Given the description of an element on the screen output the (x, y) to click on. 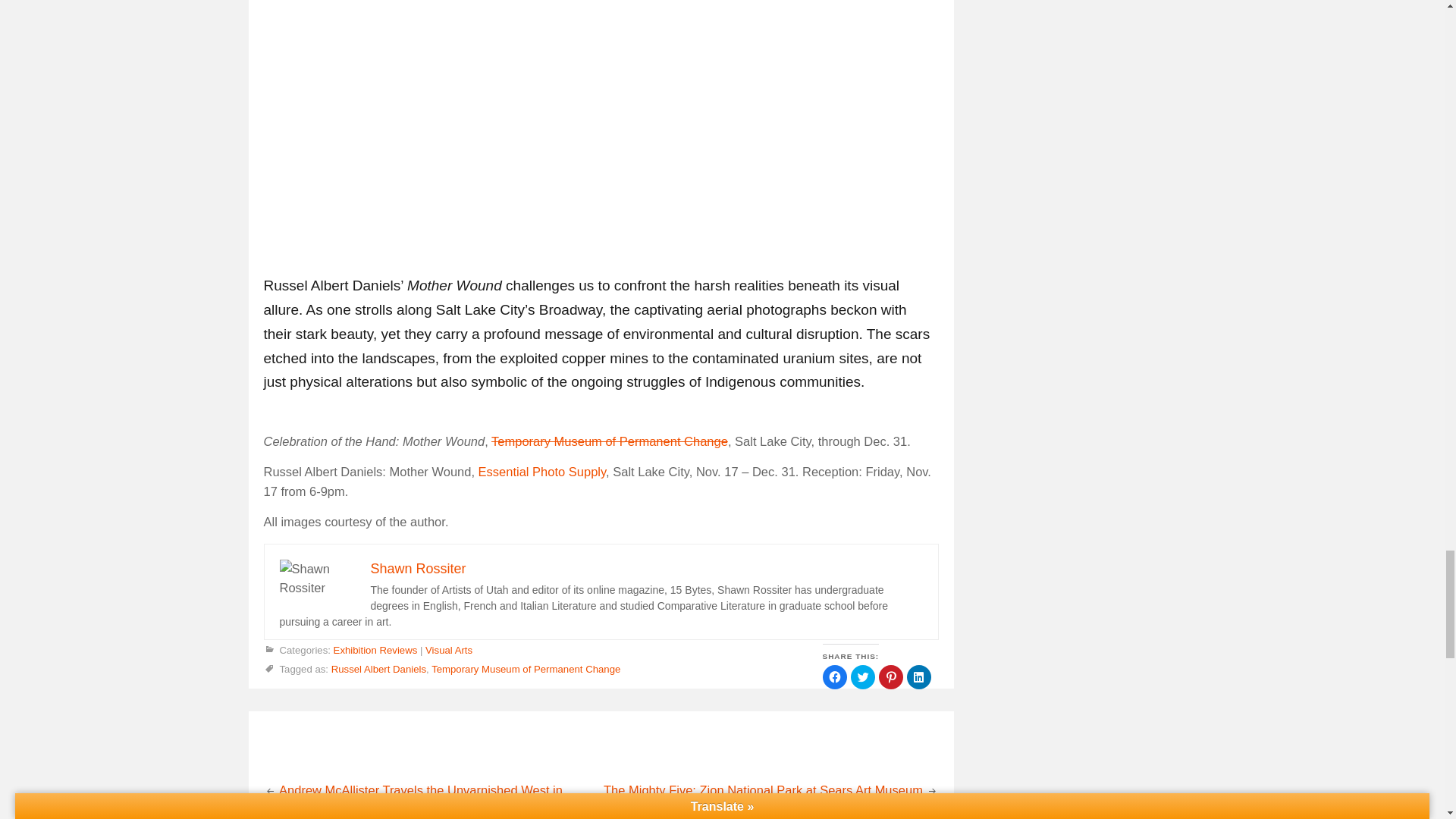
Click to share on Pinterest (889, 677)
Click to share on Twitter (862, 677)
Click to share on LinkedIn (919, 677)
Click to share on Facebook (833, 677)
